Given the description of an element on the screen output the (x, y) to click on. 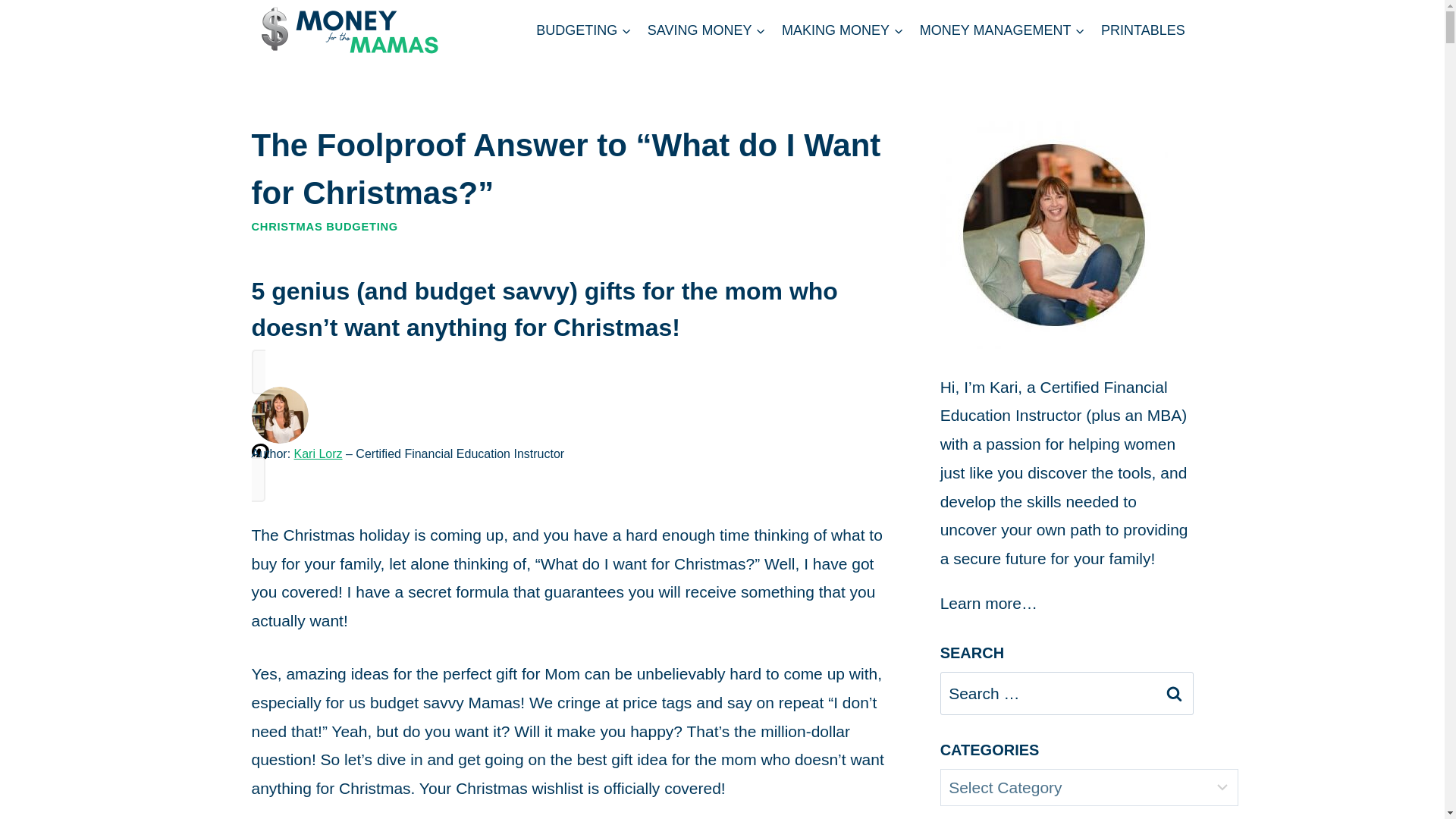
Save (260, 461)
CHRISTMAS BUDGETING (324, 226)
SAVING MONEY (706, 29)
Kari Lorz (318, 453)
MAKING MONEY (842, 29)
BUDGETING (583, 29)
PRINTABLES (1142, 29)
MONEY MANAGEMENT (1002, 29)
